Given the description of an element on the screen output the (x, y) to click on. 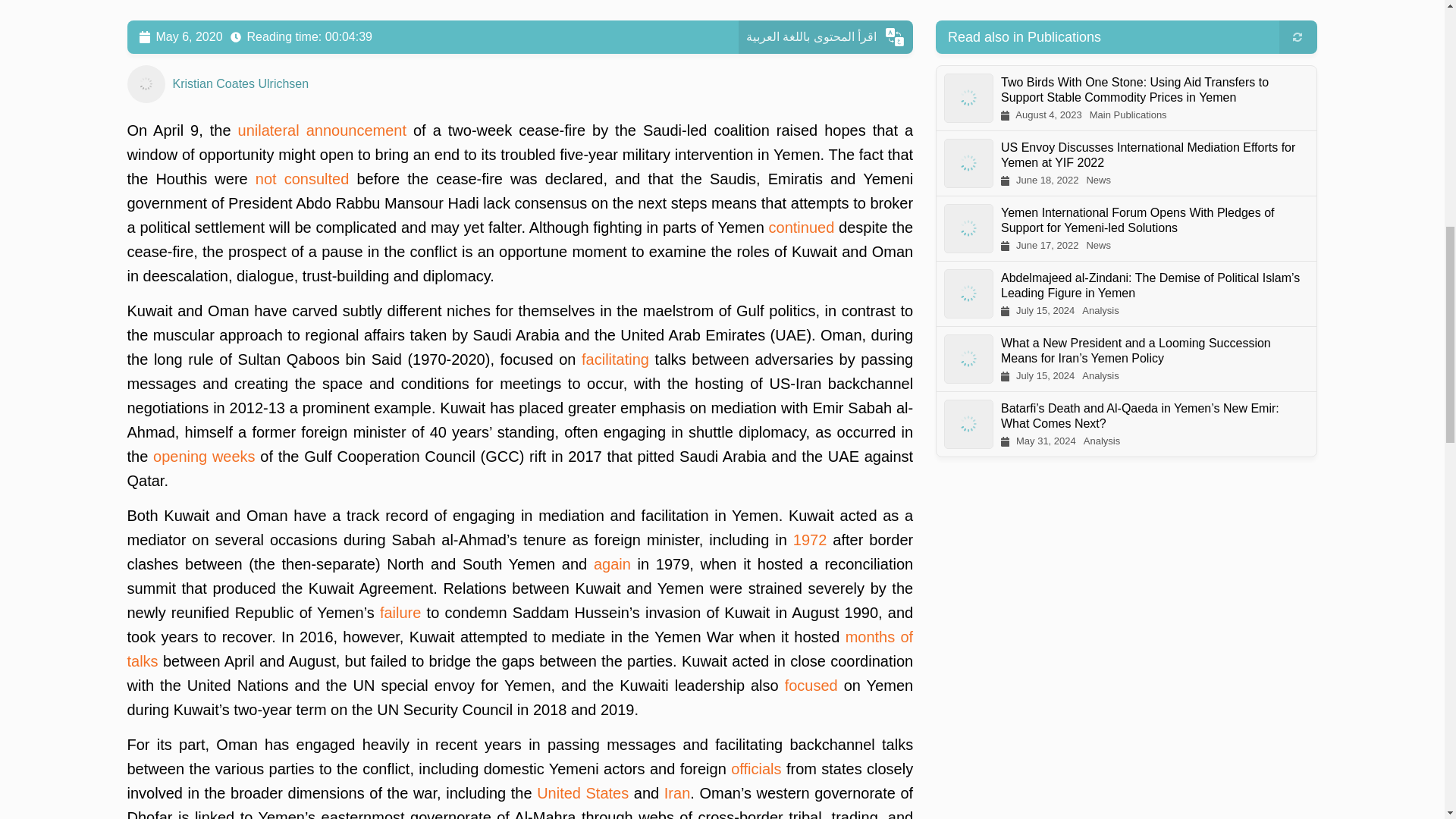
Iran (676, 792)
unilateral announcement (322, 130)
facilitating (614, 359)
United States (582, 792)
1972 (810, 539)
not consulted (302, 178)
opening weeks (204, 456)
continued (801, 227)
